Given the description of an element on the screen output the (x, y) to click on. 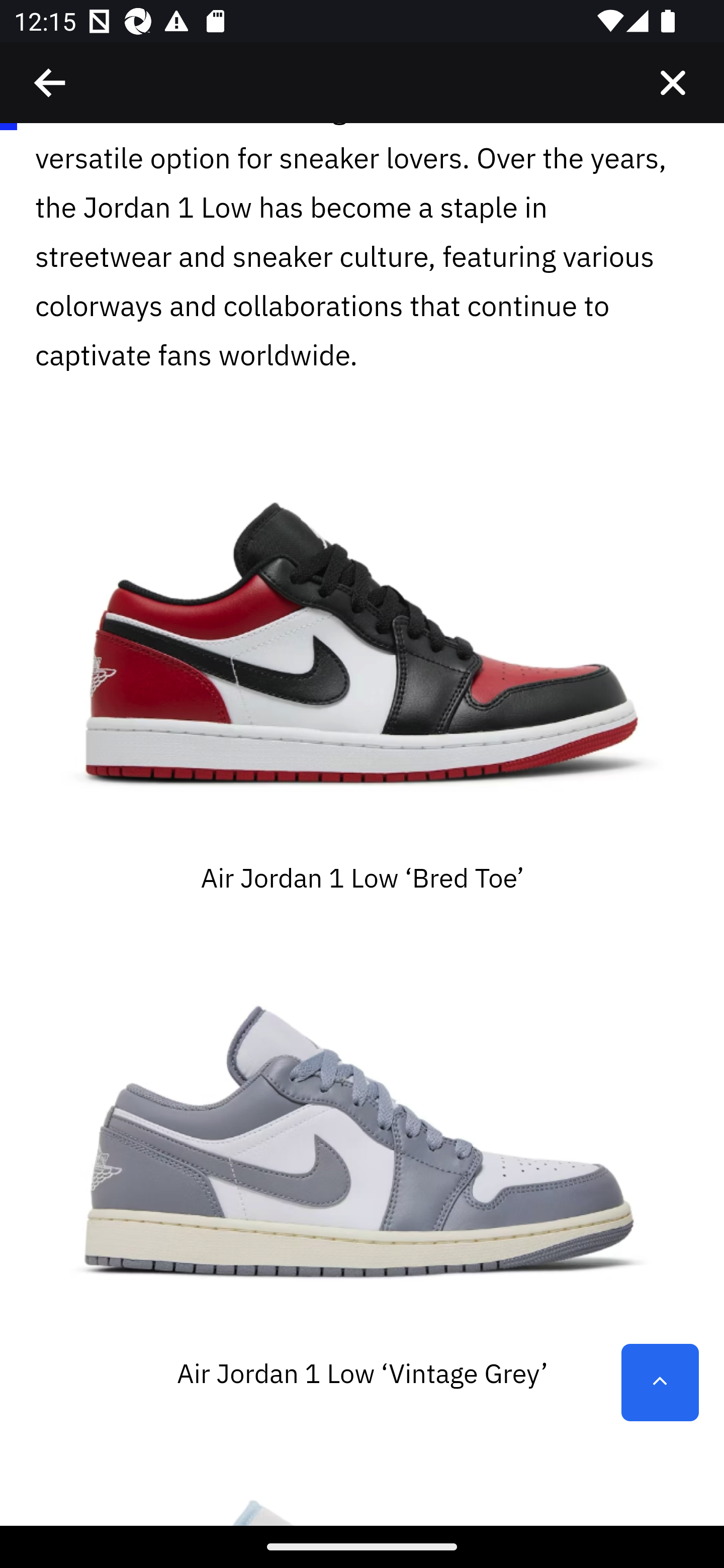
 (50, 83)
 (672, 83)
Air Jordan 1 Low 'Bred Toe' 553558‑612 (361, 648)
Air Jordan 1 Low 'Vintage Grey' 553558‑053 (361, 1144)
Scroll to top  (659, 1382)
